Given the description of an element on the screen output the (x, y) to click on. 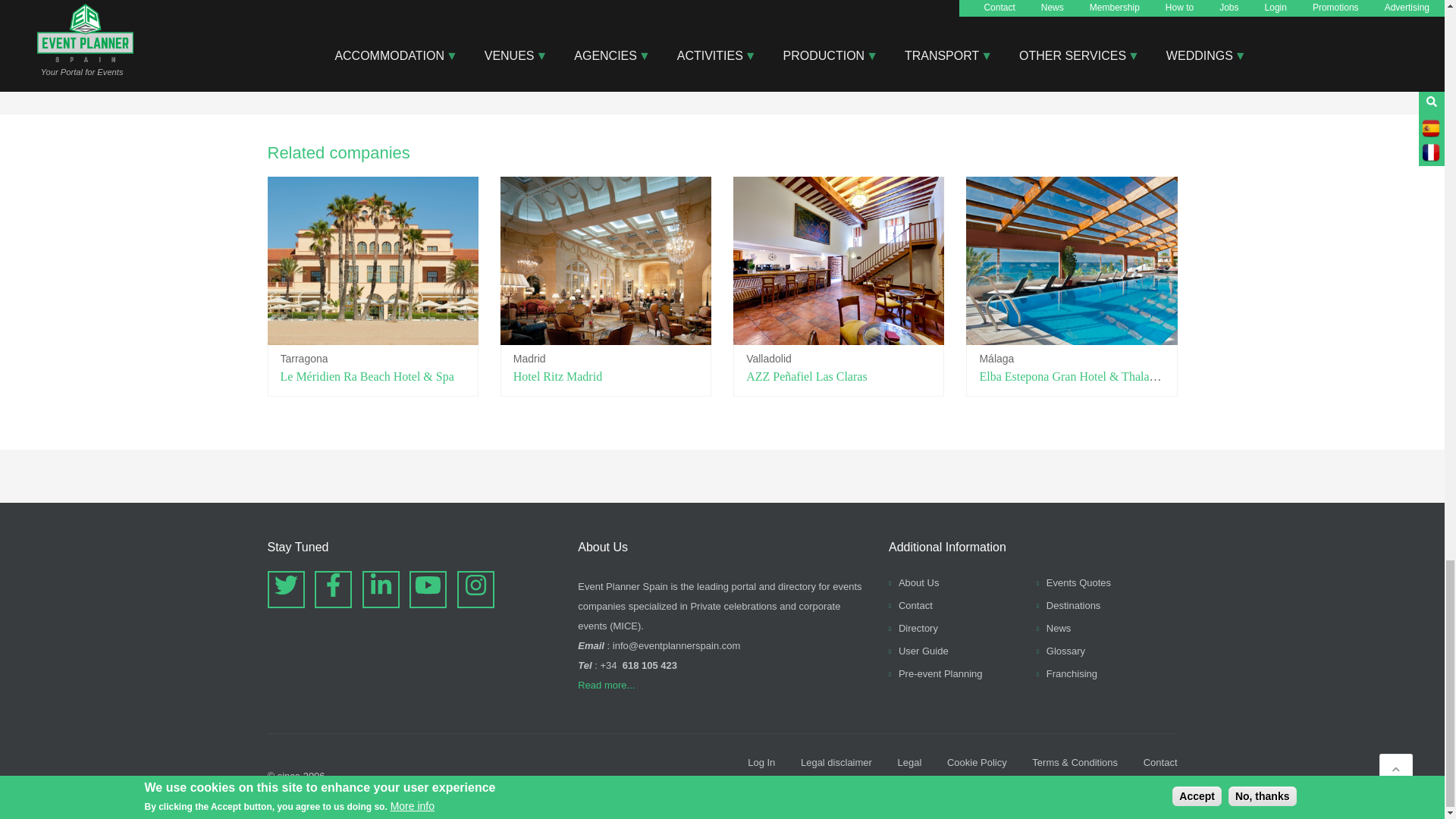
Abouts Us (913, 582)
Glossary (1060, 650)
